Given the description of an element on the screen output the (x, y) to click on. 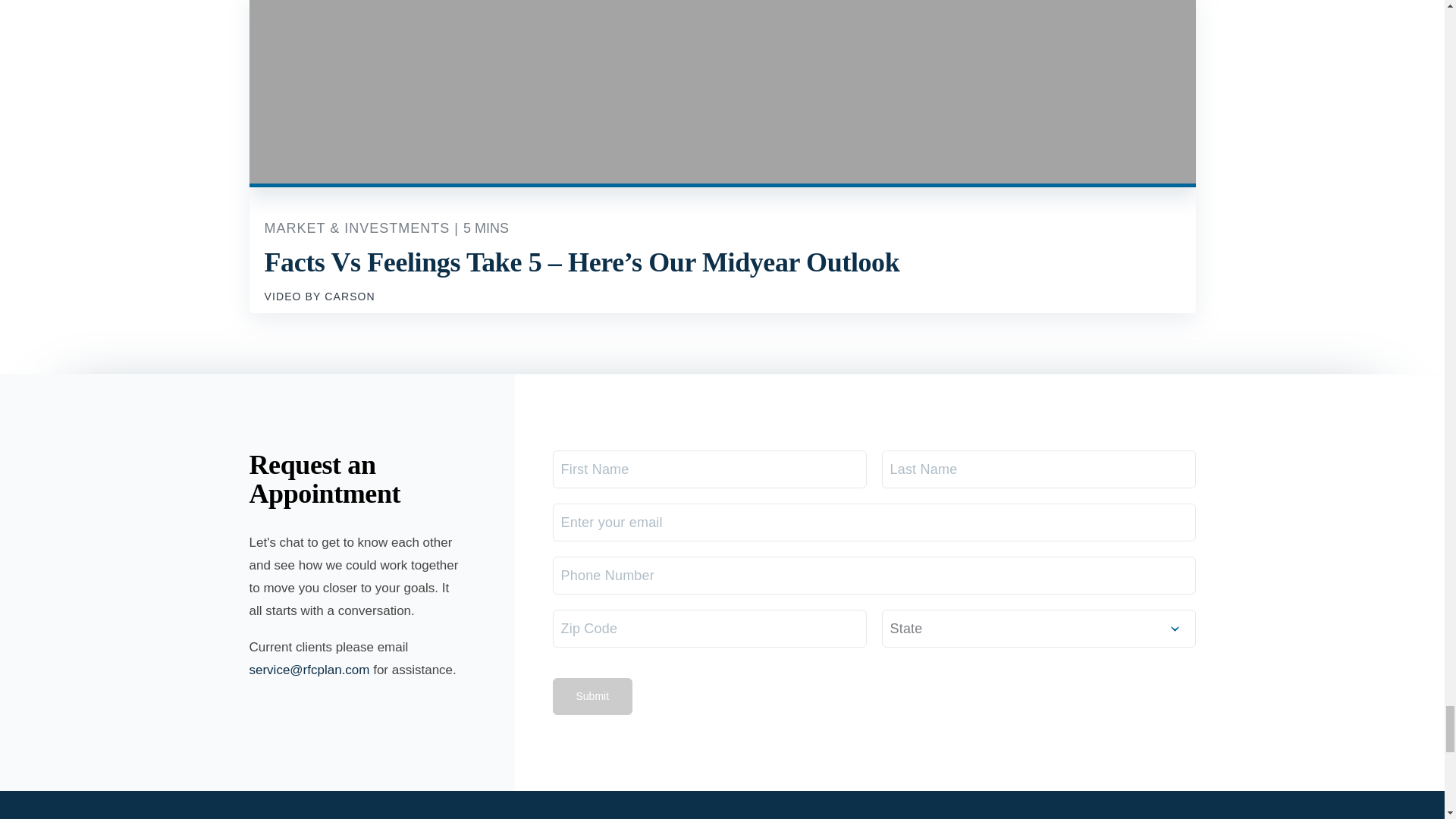
Submit (591, 696)
